Given the description of an element on the screen output the (x, y) to click on. 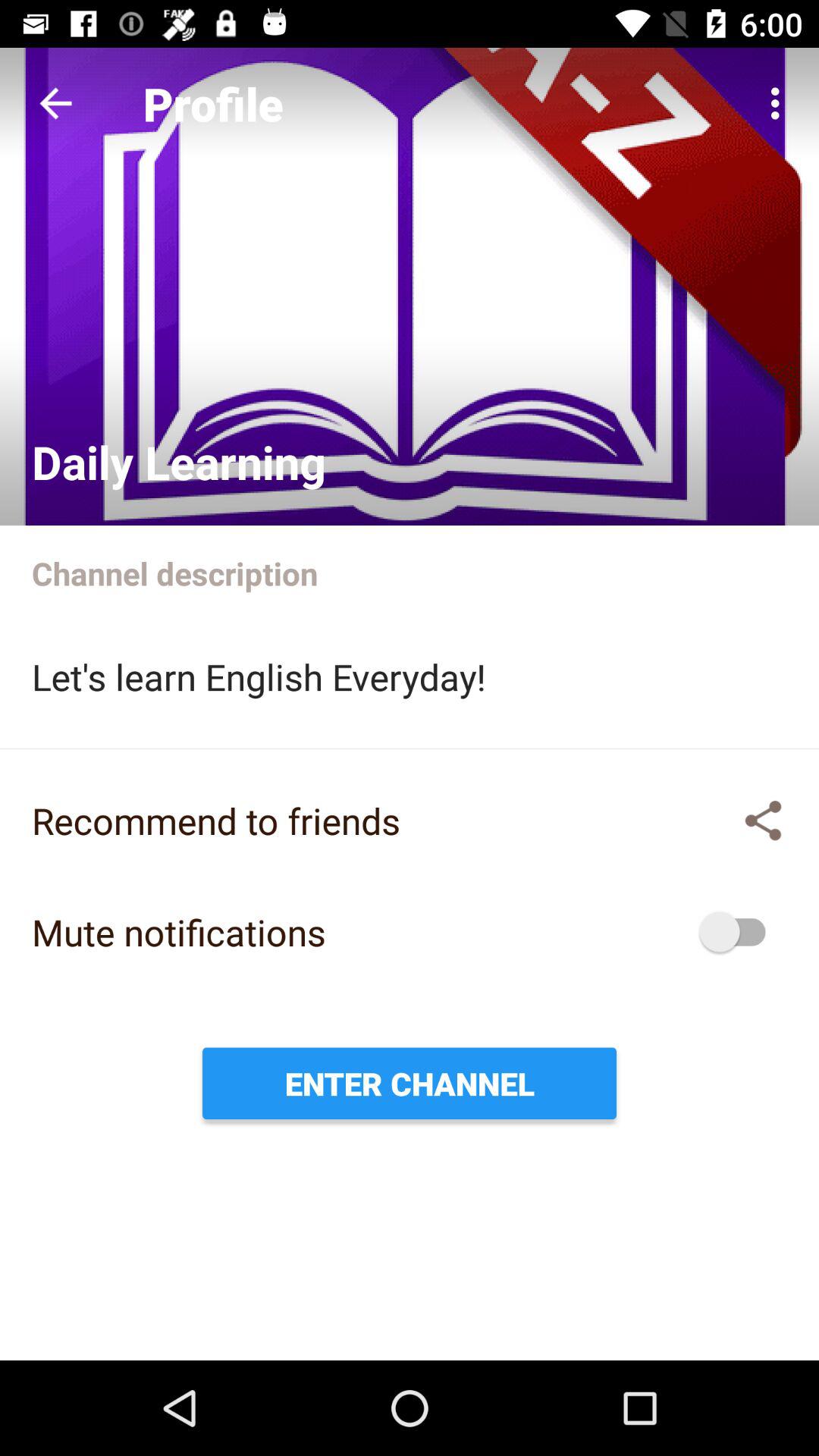
tap item below mute notifications icon (409, 1083)
